Given the description of an element on the screen output the (x, y) to click on. 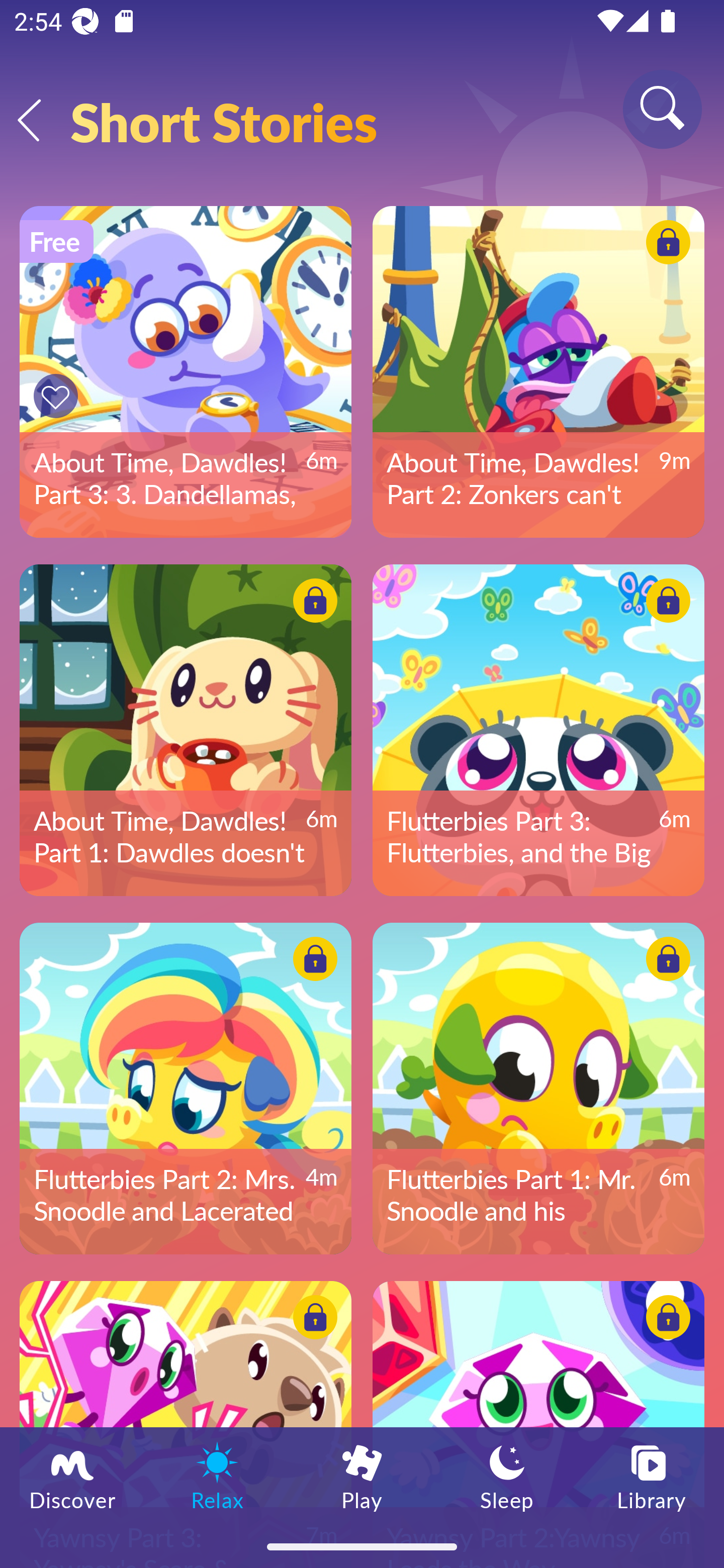
Button (665, 244)
Button (58, 395)
Button (311, 603)
Button (665, 603)
Button (311, 960)
Button (665, 960)
Button (311, 1320)
Button (665, 1320)
Discover (72, 1475)
Play (361, 1475)
Sleep (506, 1475)
Library (651, 1475)
